Given the description of an element on the screen output the (x, y) to click on. 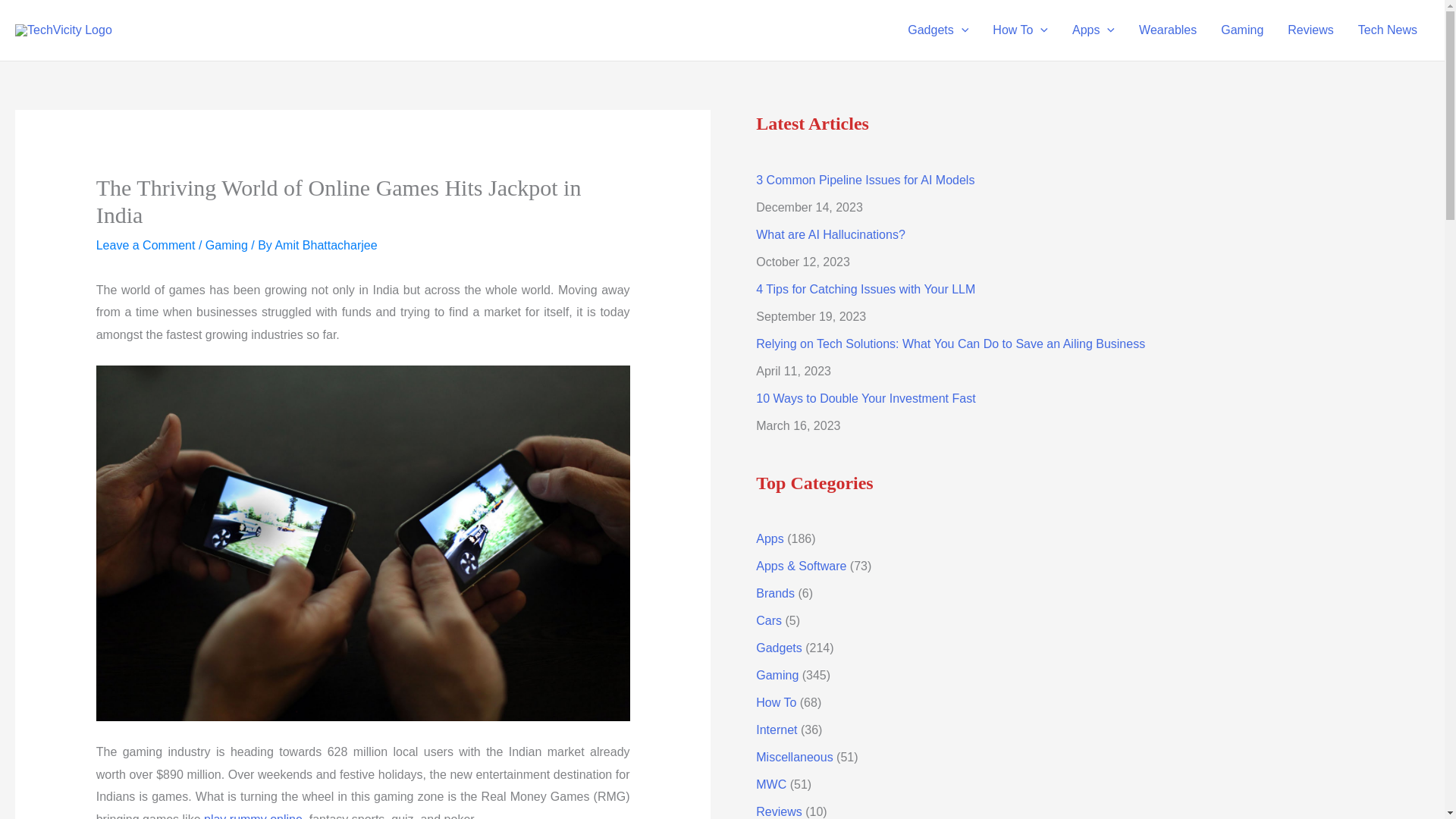
Reviews (1310, 30)
How To (1019, 30)
Gaming (1241, 30)
Gadgets (937, 30)
Apps (1092, 30)
Tech News (1387, 30)
Wearables (1167, 30)
View all posts by Amit Bhattacharjee (326, 245)
